Given the description of an element on the screen output the (x, y) to click on. 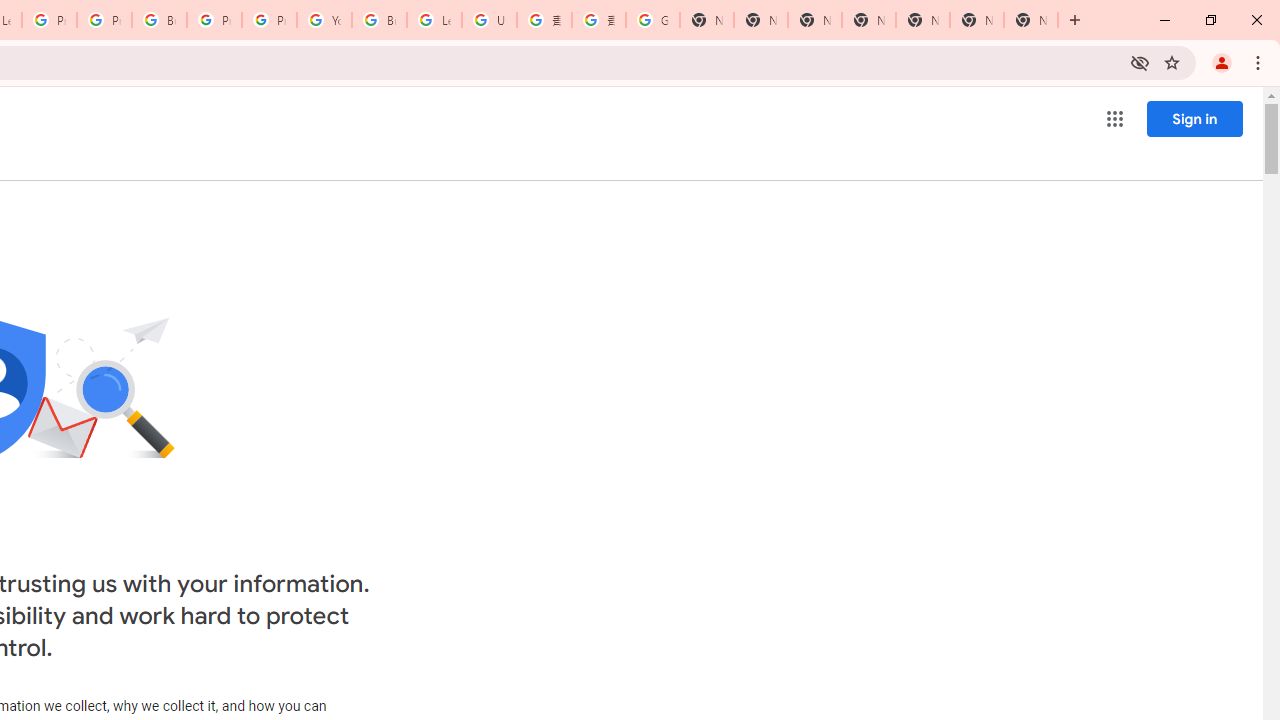
New Tab (1030, 20)
New Tab (868, 20)
Browse Chrome as a guest - Computer - Google Chrome Help (379, 20)
